Given the description of an element on the screen output the (x, y) to click on. 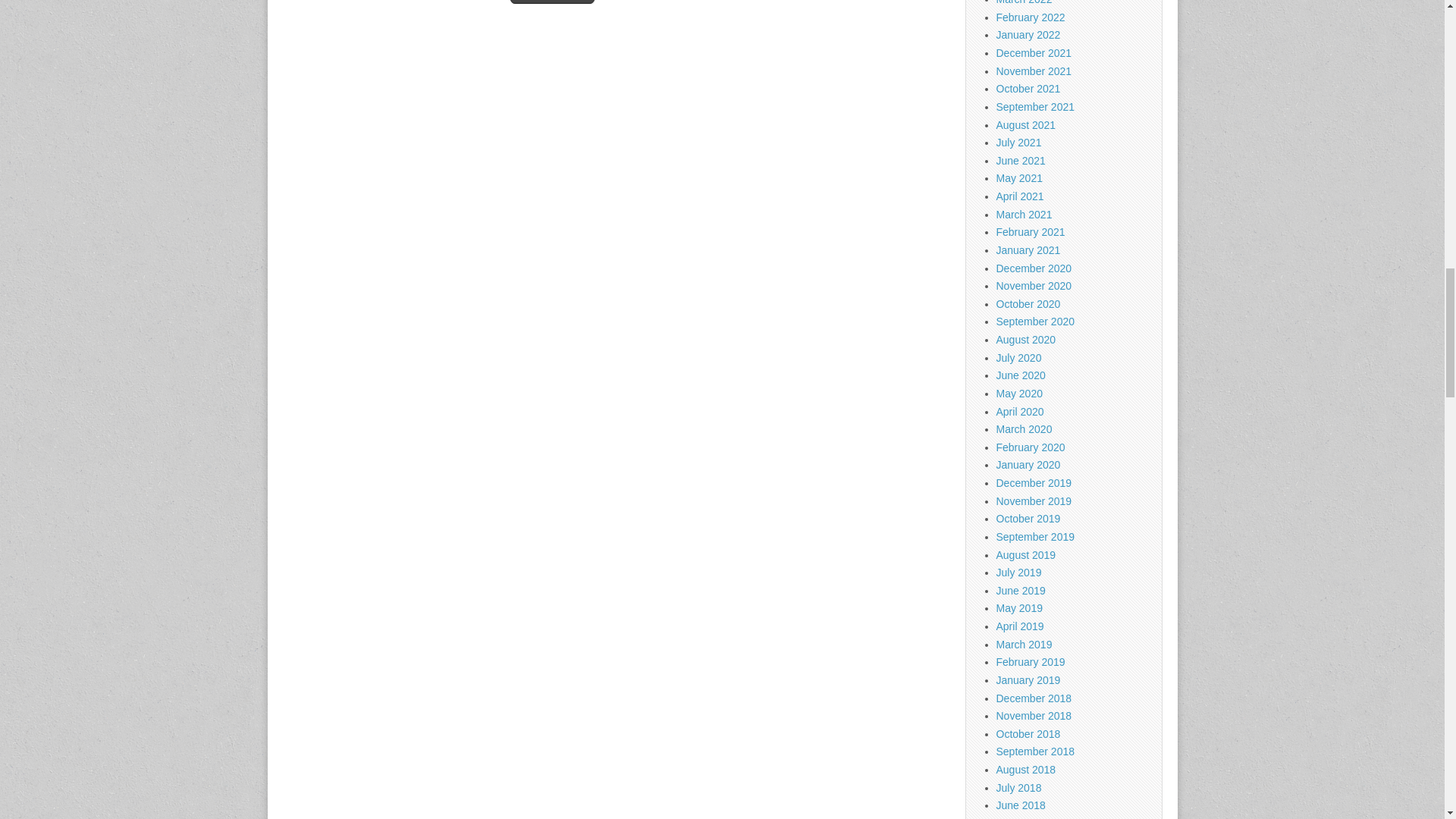
Post Comment (551, 2)
Post Comment (551, 2)
